Given the description of an element on the screen output the (x, y) to click on. 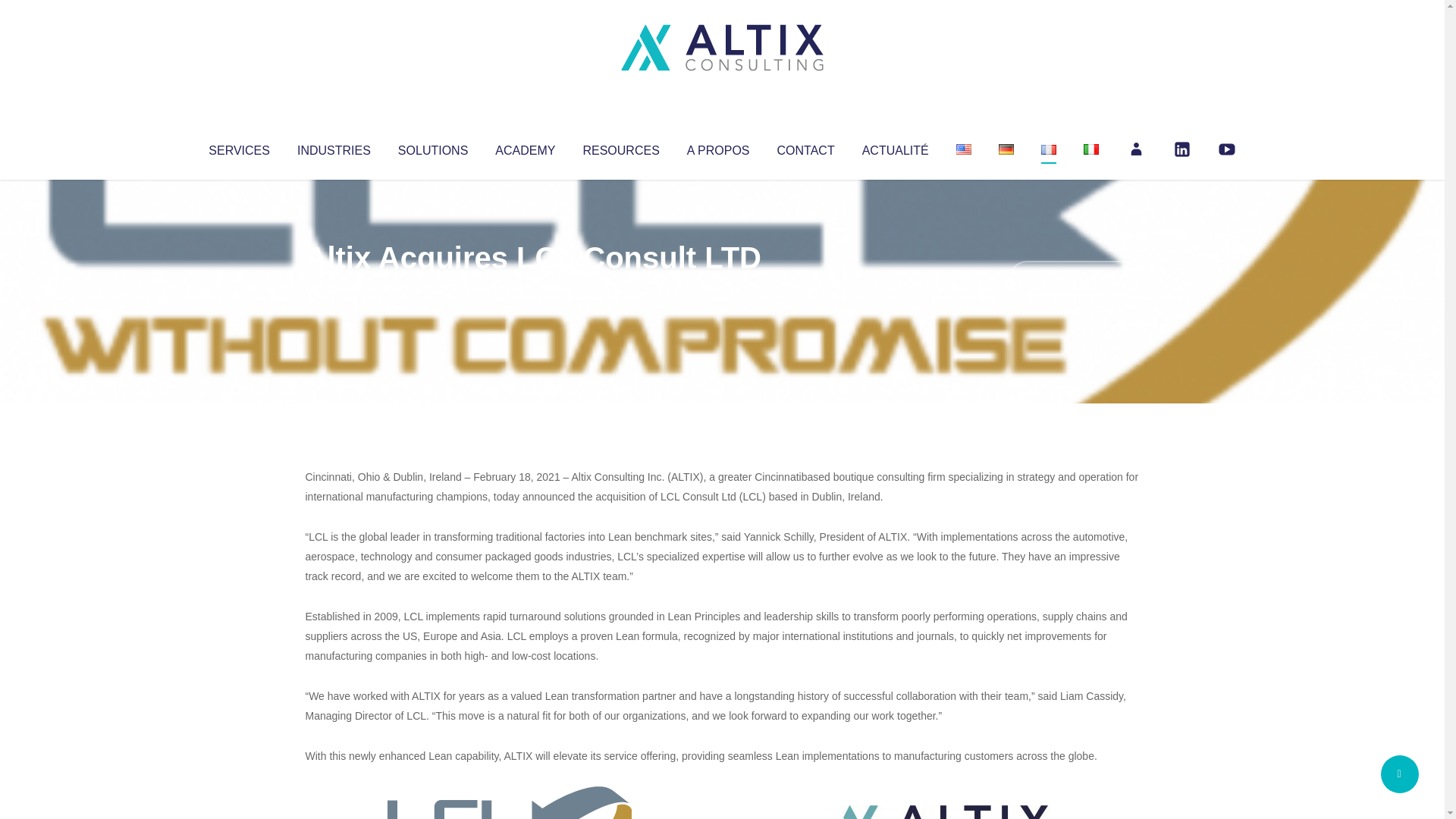
No Comments (1073, 278)
RESOURCES (620, 146)
Altix (333, 287)
SERVICES (238, 146)
SOLUTIONS (432, 146)
ACADEMY (524, 146)
A PROPOS (718, 146)
Articles par Altix (333, 287)
Uncategorized (530, 287)
INDUSTRIES (334, 146)
